Given the description of an element on the screen output the (x, y) to click on. 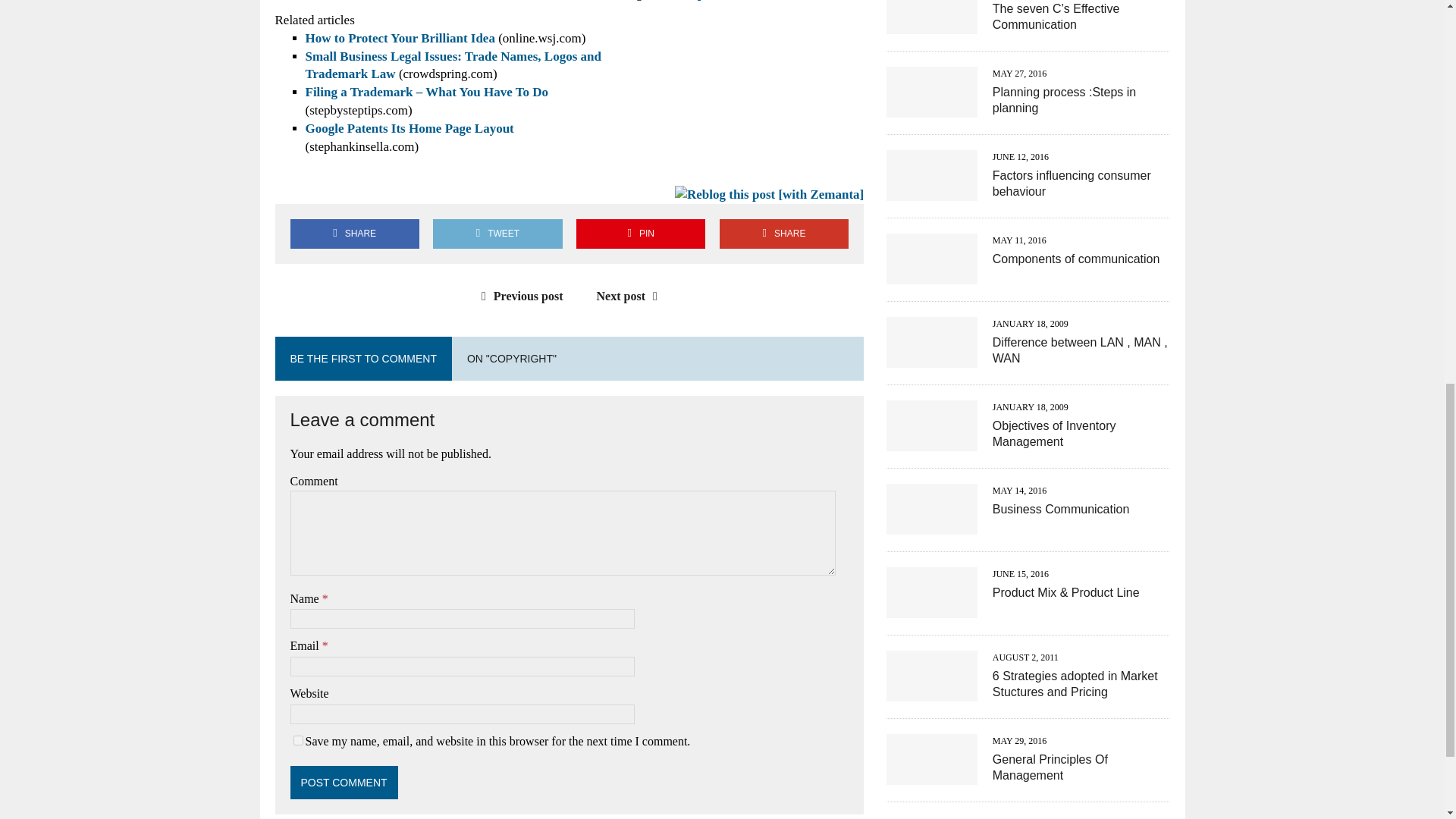
yes (297, 740)
Post Comment (343, 782)
TWEET (497, 233)
Pin This Post (640, 233)
Wikipedia (697, 0)
SHARE (354, 233)
Copyright 4 (769, 194)
PIN (640, 233)
Google Patents Its Home Page Layout (408, 128)
